Given the description of an element on the screen output the (x, y) to click on. 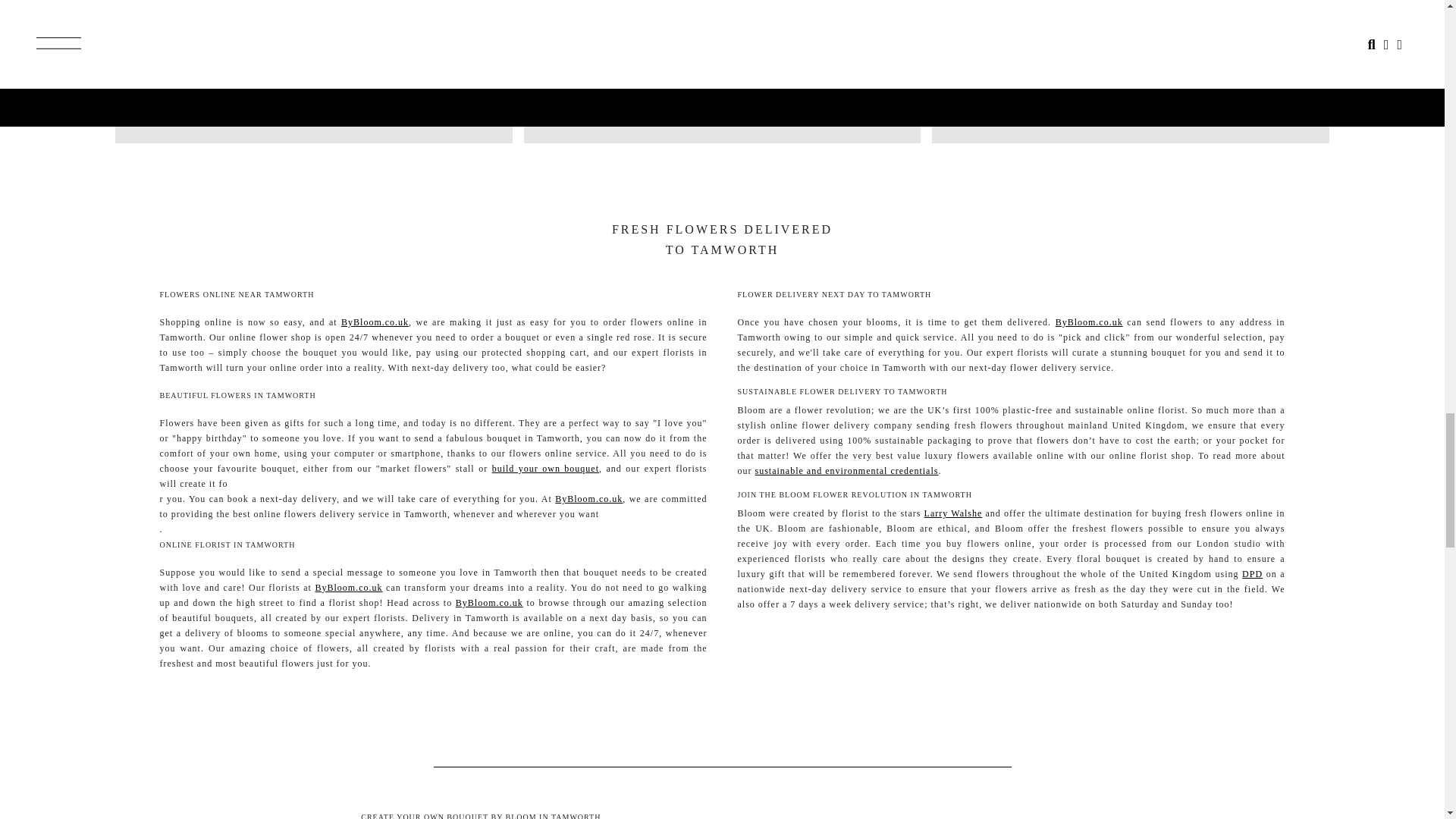
sustainable and environmental credentials (847, 470)
ByBloom.co.uk (588, 498)
ByBloom.co.uk (348, 587)
ByBloom.co.uk (488, 602)
ByBloom.co.uk (1088, 321)
build your own bouquet (545, 468)
ByBloom.co.uk (374, 321)
